Given the description of an element on the screen output the (x, y) to click on. 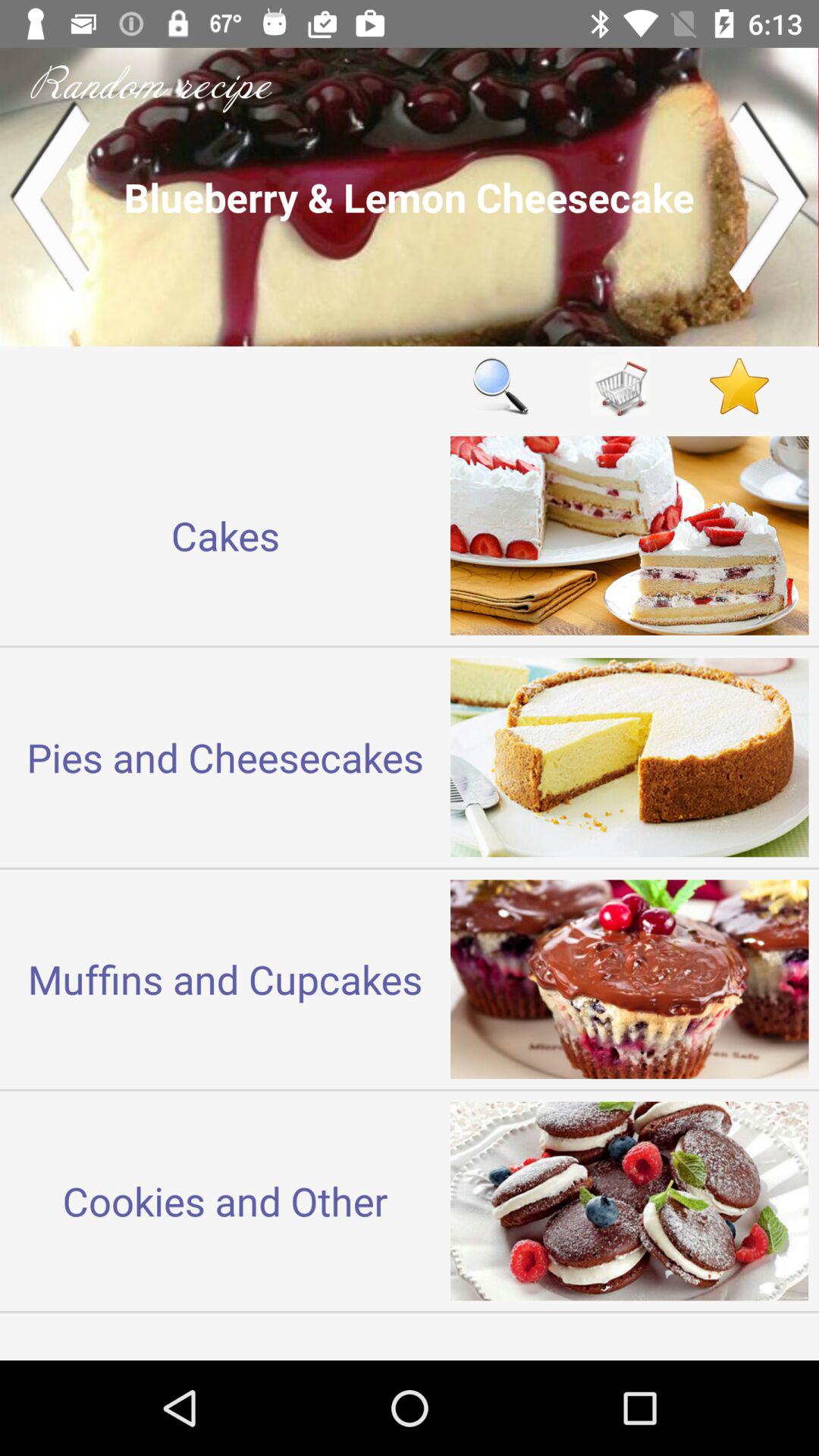
next slide (769, 196)
